Given the description of an element on the screen output the (x, y) to click on. 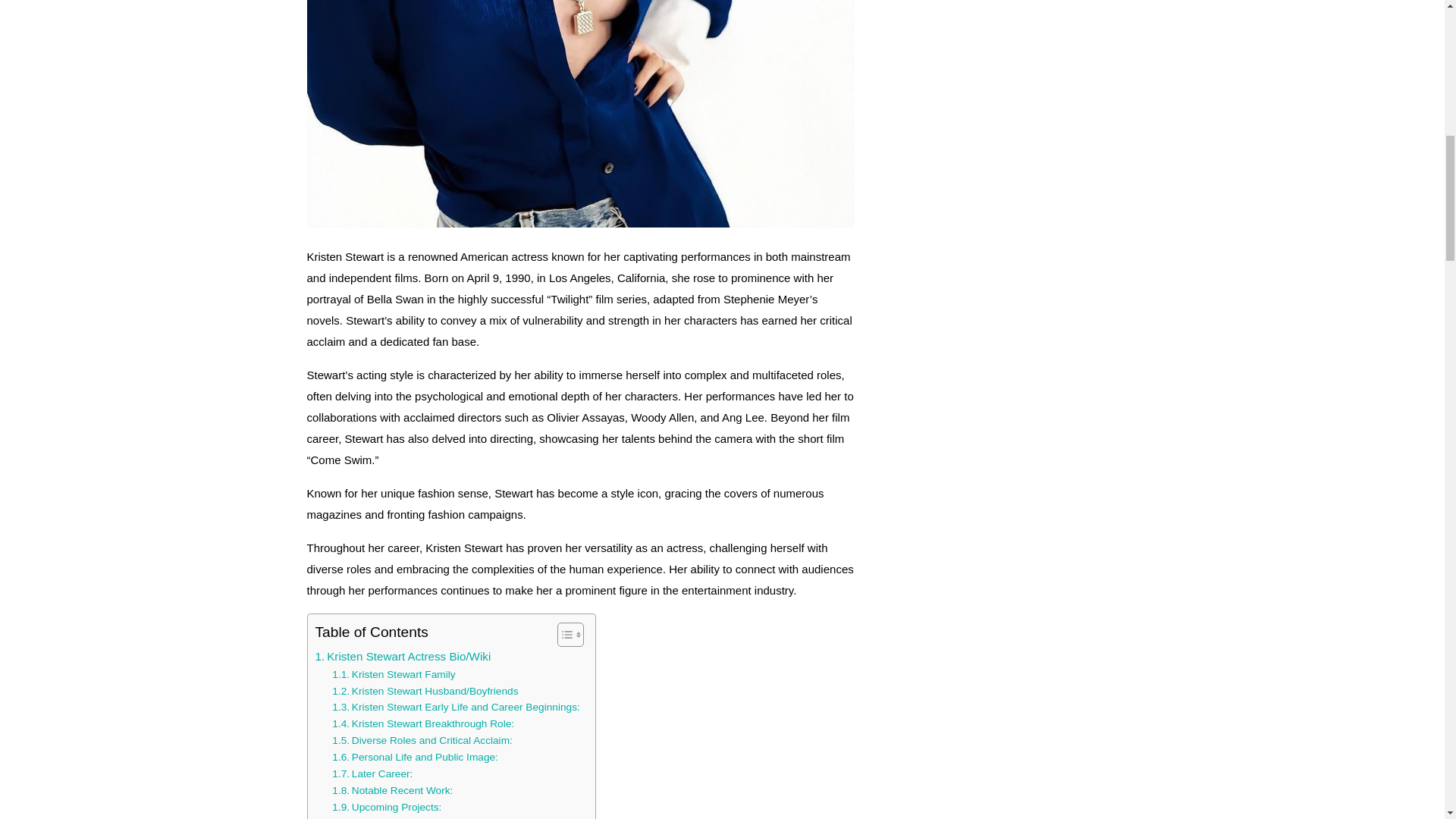
Later Career: (371, 773)
Conclusion: (371, 817)
Kristen Stewart Family (392, 674)
Notable Recent Work: (391, 790)
Kristen Stewart Early Life and Career Beginnings: (455, 707)
Kristen Stewart Family (392, 674)
Upcoming Projects: (386, 807)
Personal Life and Public Image: (414, 757)
Conclusion: (371, 817)
Later Career: (371, 773)
